Given the description of an element on the screen output the (x, y) to click on. 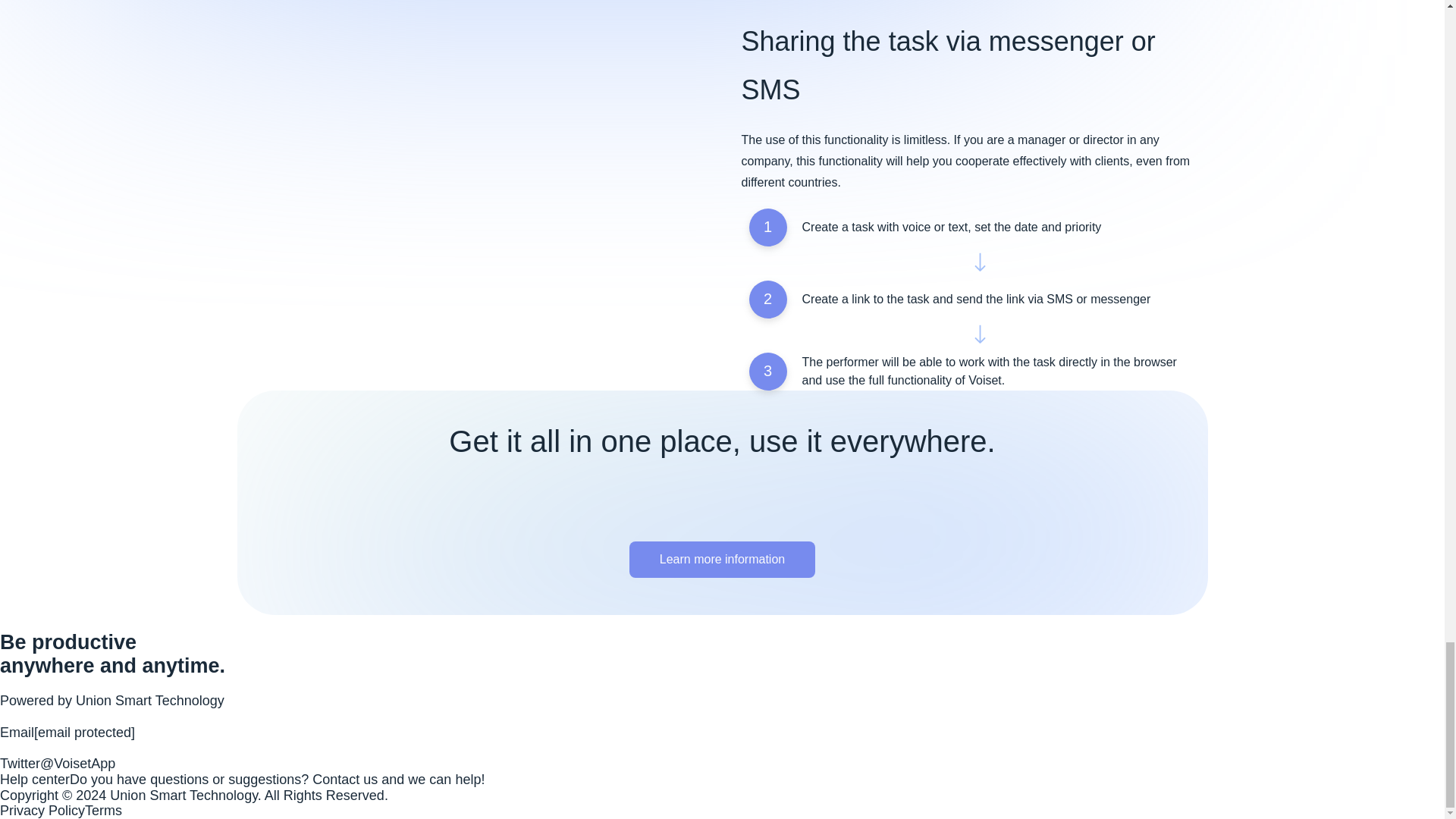
Help center (34, 779)
Union Smart Technology (149, 700)
Learn more information (721, 559)
Privacy Policy (42, 810)
Terms (103, 810)
Union Smart Technology. (186, 795)
